Given the description of an element on the screen output the (x, y) to click on. 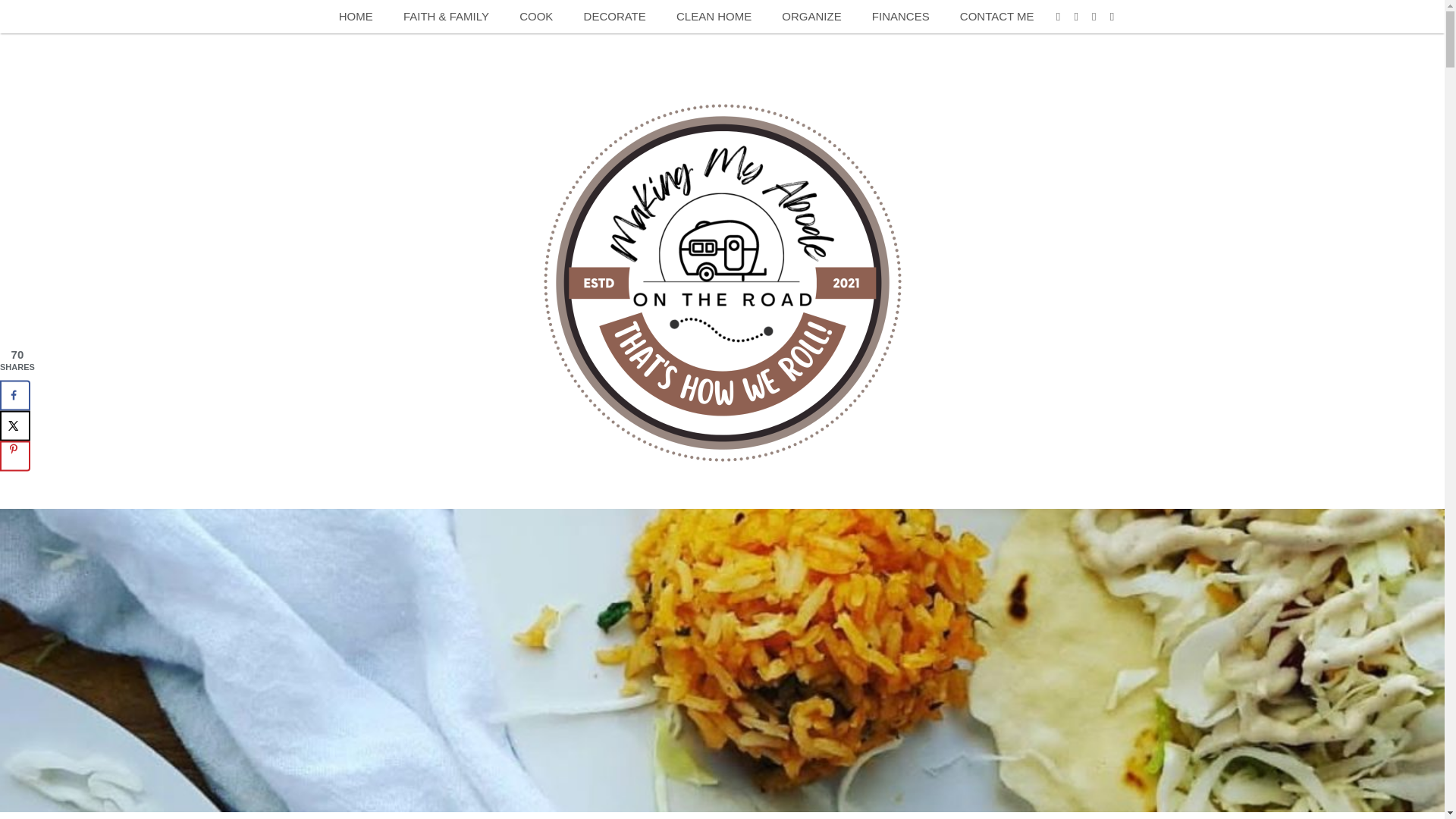
CONTACT ME (997, 16)
FINANCES (901, 16)
COOK (535, 16)
DECORATE (614, 16)
HOME (355, 16)
ORGANIZE (811, 16)
CLEAN HOME (713, 16)
